Given the description of an element on the screen output the (x, y) to click on. 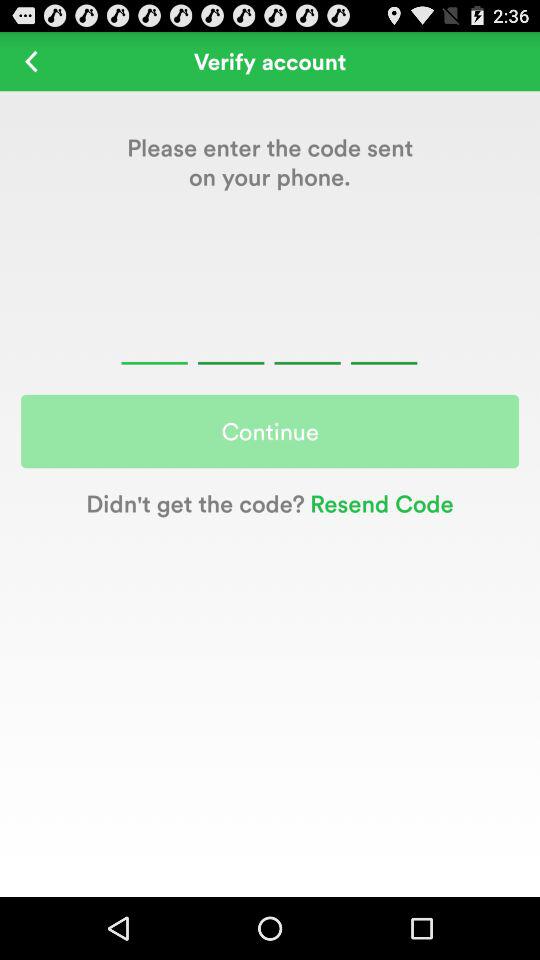
tap the icon at the top left corner (31, 60)
